Given the description of an element on the screen output the (x, y) to click on. 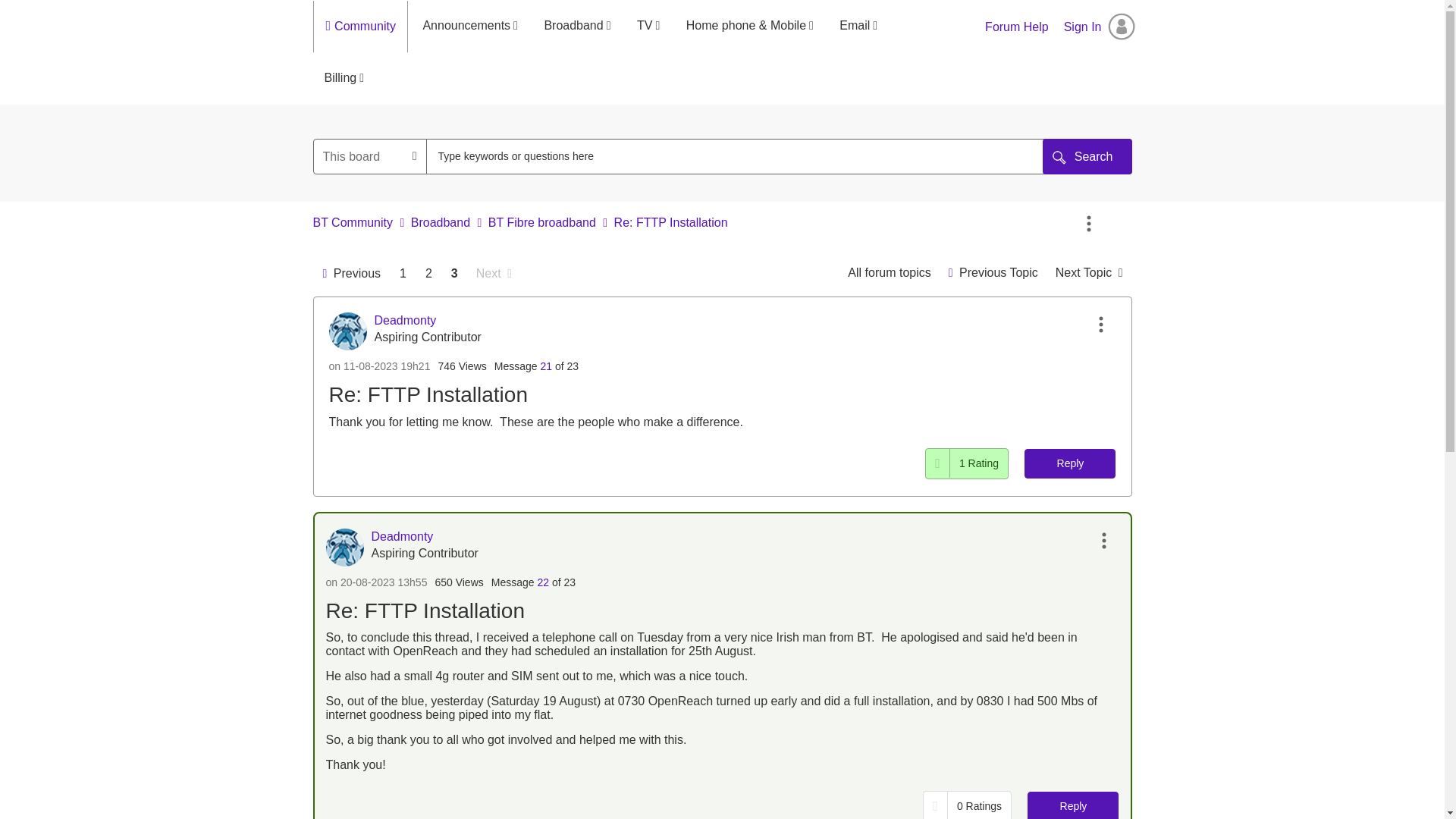
Show option menu (1100, 324)
Search (1087, 156)
Billing (344, 78)
Openreach fibre move (992, 272)
Email (858, 25)
Broadband (440, 222)
Search (1087, 156)
Show option menu (1088, 223)
BT Fibre broadband (888, 272)
Search Granularity (370, 156)
Click here to see who gave ratings to this post. (978, 462)
Broadband (576, 25)
Community (368, 26)
Sign In (1099, 26)
Area fault Ts9 (1089, 272)
